Given the description of an element on the screen output the (x, y) to click on. 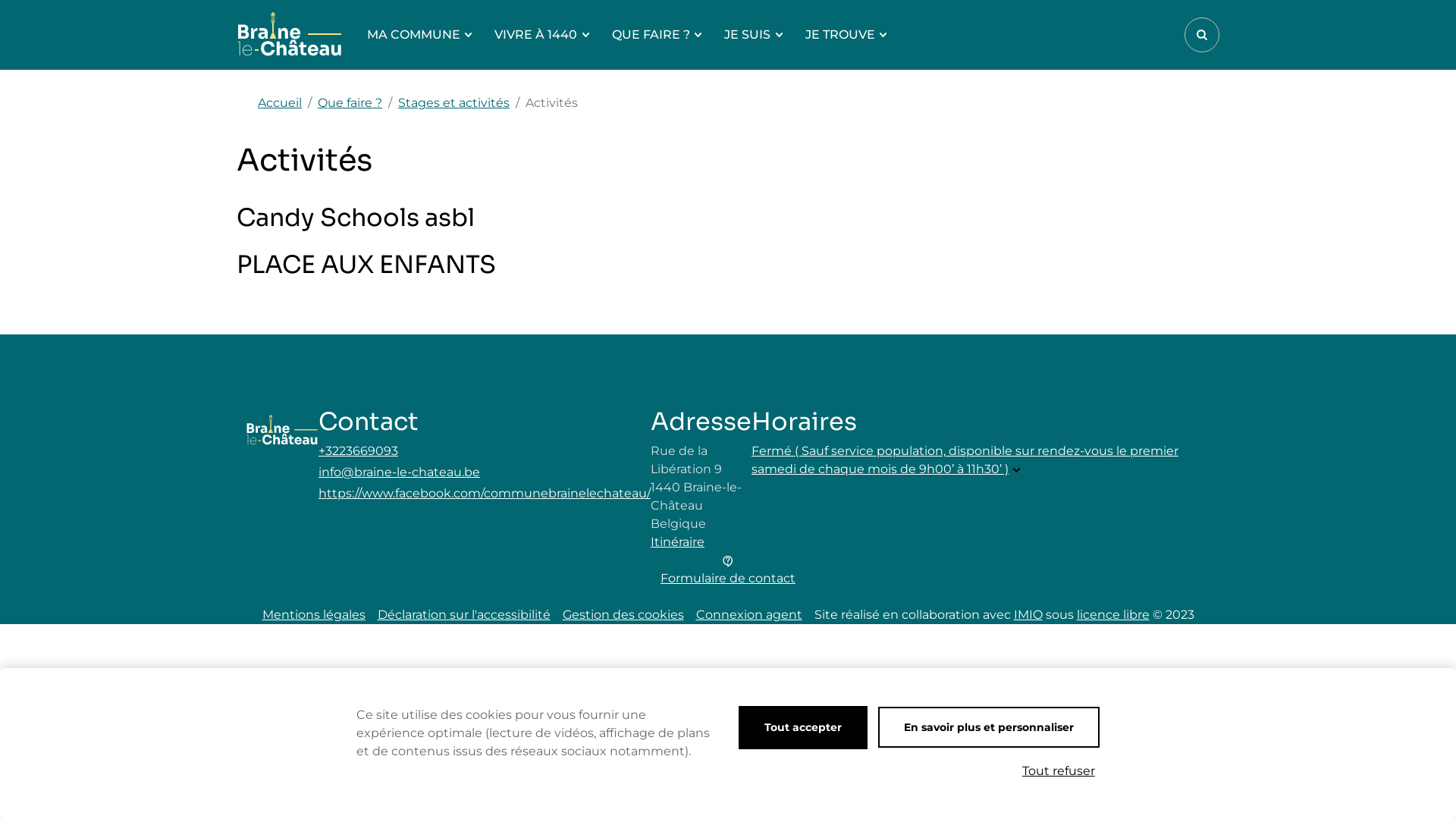
Tout accepter Element type: text (802, 727)
Accueil Element type: text (279, 102)
Rechercher Element type: text (1201, 34)
QUE FAIRE ? Element type: text (656, 34)
Tout refuser Element type: text (1058, 771)
PLACE AUX ENFANTS Element type: text (727, 267)
info@braine-le-chateau.be Element type: text (484, 472)
En savoir plus et personnaliser Element type: text (988, 726)
MA COMMUNE Element type: text (419, 34)
Gestion des cookies Element type: text (623, 614)
IMIO Element type: text (1027, 614)
Connexion agent Element type: text (749, 614)
JE TROUVE Element type: text (845, 34)
JE SUIS Element type: text (752, 34)
Formulaire de contact Element type: text (727, 569)
Que faire ? Element type: text (349, 102)
https://www.facebook.com/communebrainelechateau/ Element type: text (484, 493)
+3223669093 Element type: text (484, 451)
licence libre Element type: text (1112, 614)
Candy Schools asbl Element type: text (727, 220)
